Given the description of an element on the screen output the (x, y) to click on. 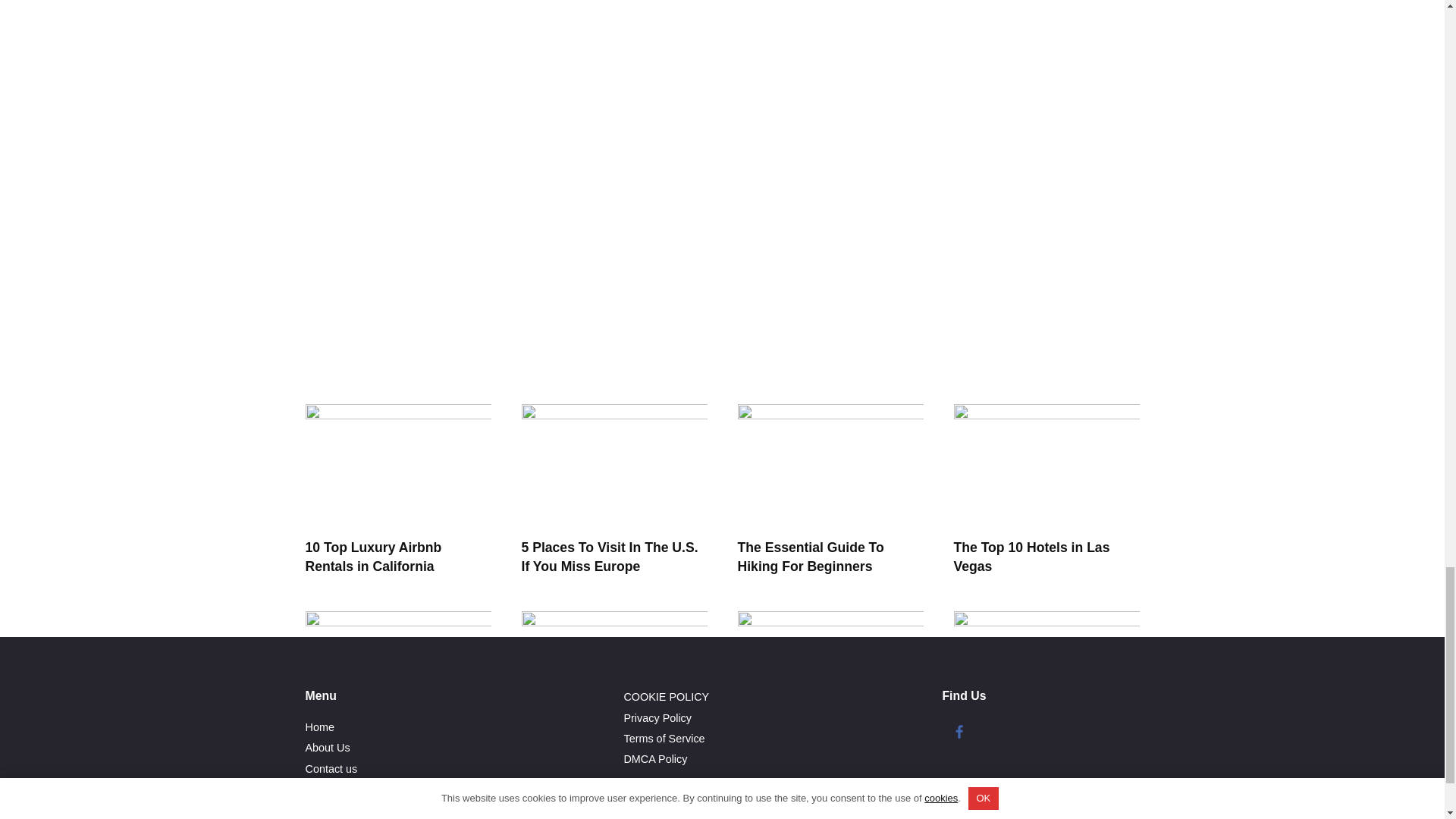
10 Top Luxury Airbnb Rentals in California (372, 556)
5 Places To Visit In The U.S. If You Miss Europe (609, 556)
